Given the description of an element on the screen output the (x, y) to click on. 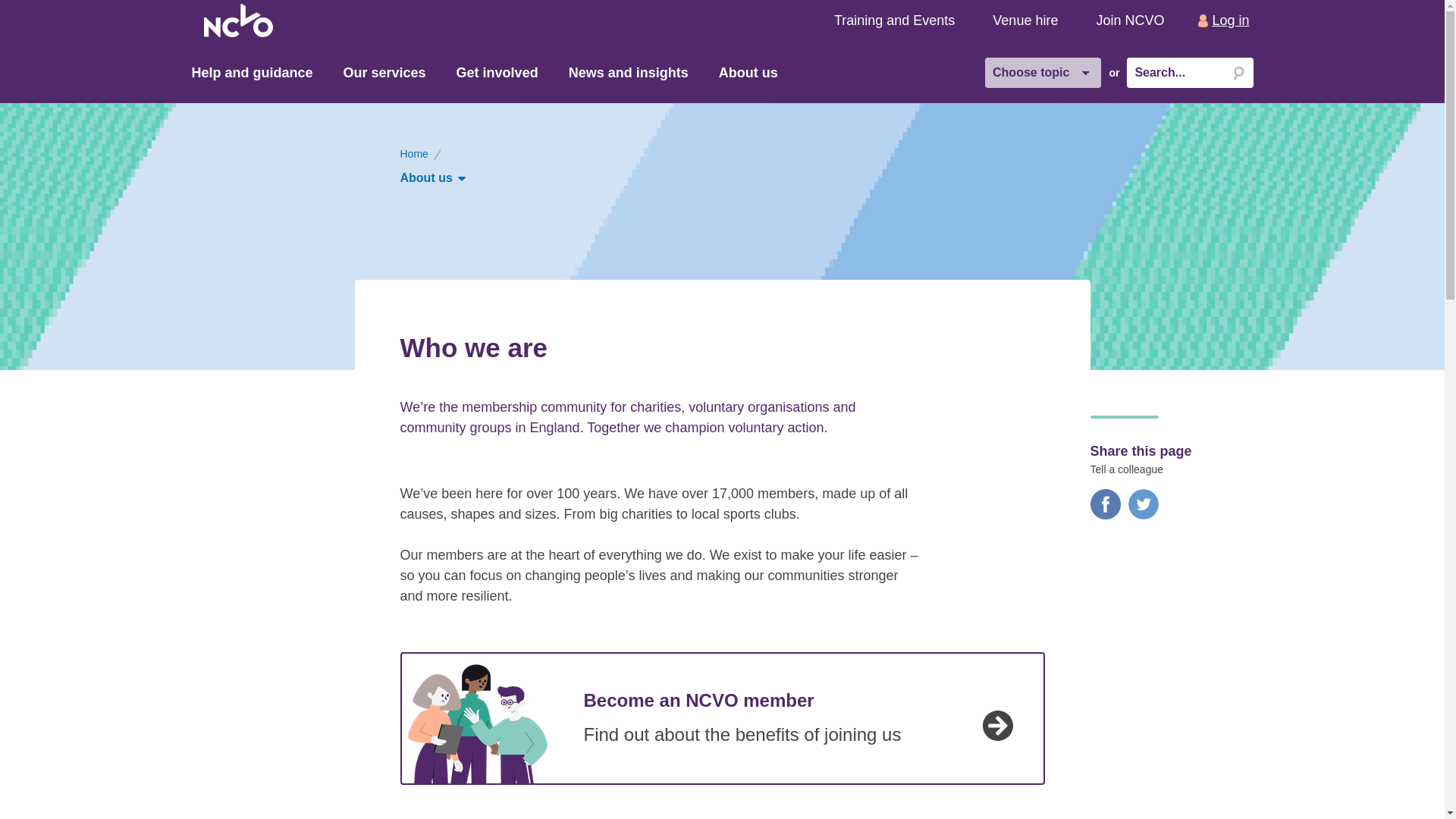
Share on Twitter (1143, 515)
Home (414, 153)
News and insights (628, 72)
Get involved (497, 72)
Log in (1225, 19)
Return to NCVO home (237, 20)
About us (748, 72)
About us (432, 177)
Our services (384, 72)
